Given the description of an element on the screen output the (x, y) to click on. 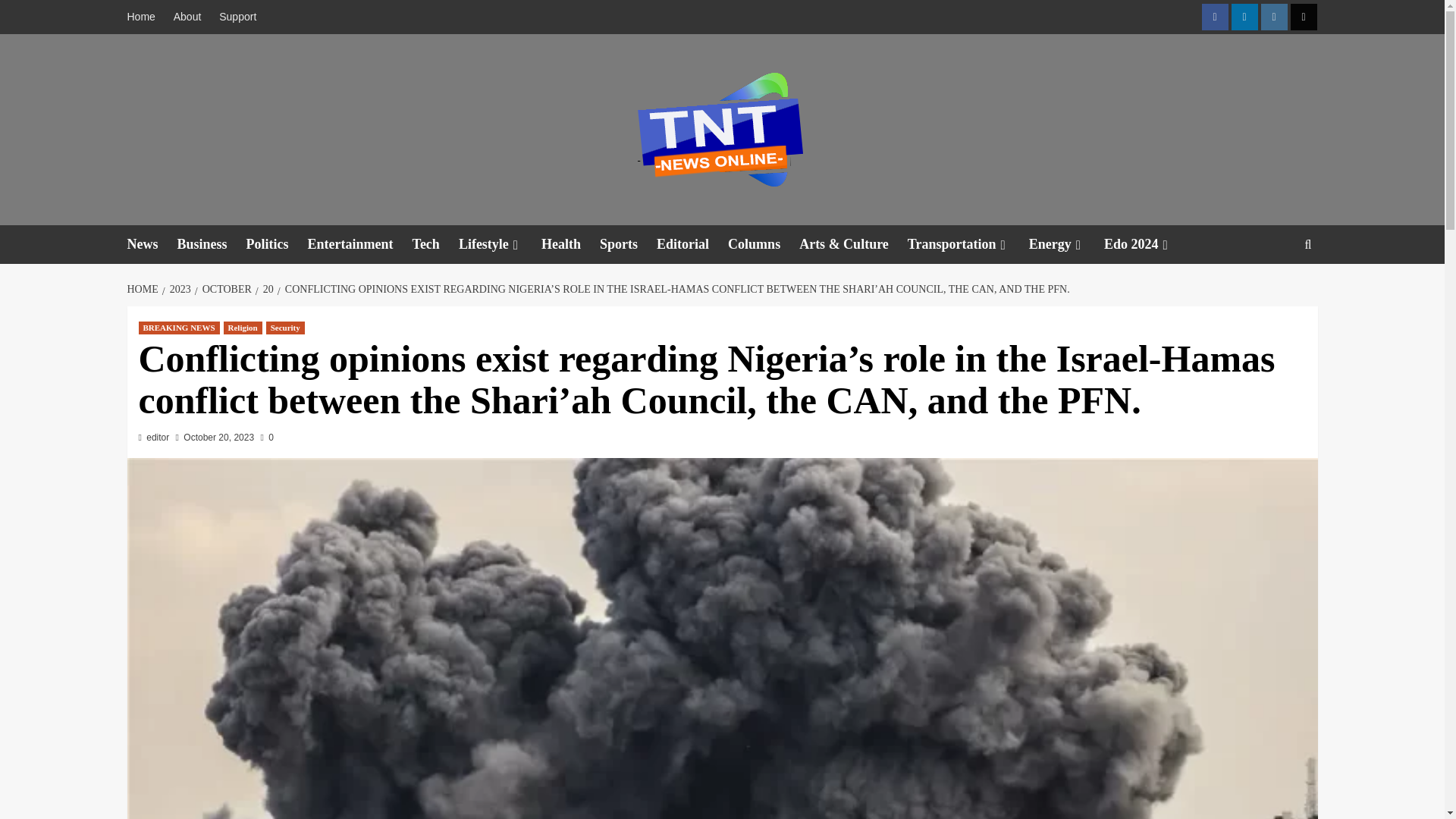
Instagram (1273, 17)
Support (237, 17)
Health (570, 244)
Facebook (1214, 17)
About (187, 17)
Transportation (968, 244)
Columns (763, 244)
Editorial (692, 244)
News (152, 244)
Energy (1066, 244)
